Given the description of an element on the screen output the (x, y) to click on. 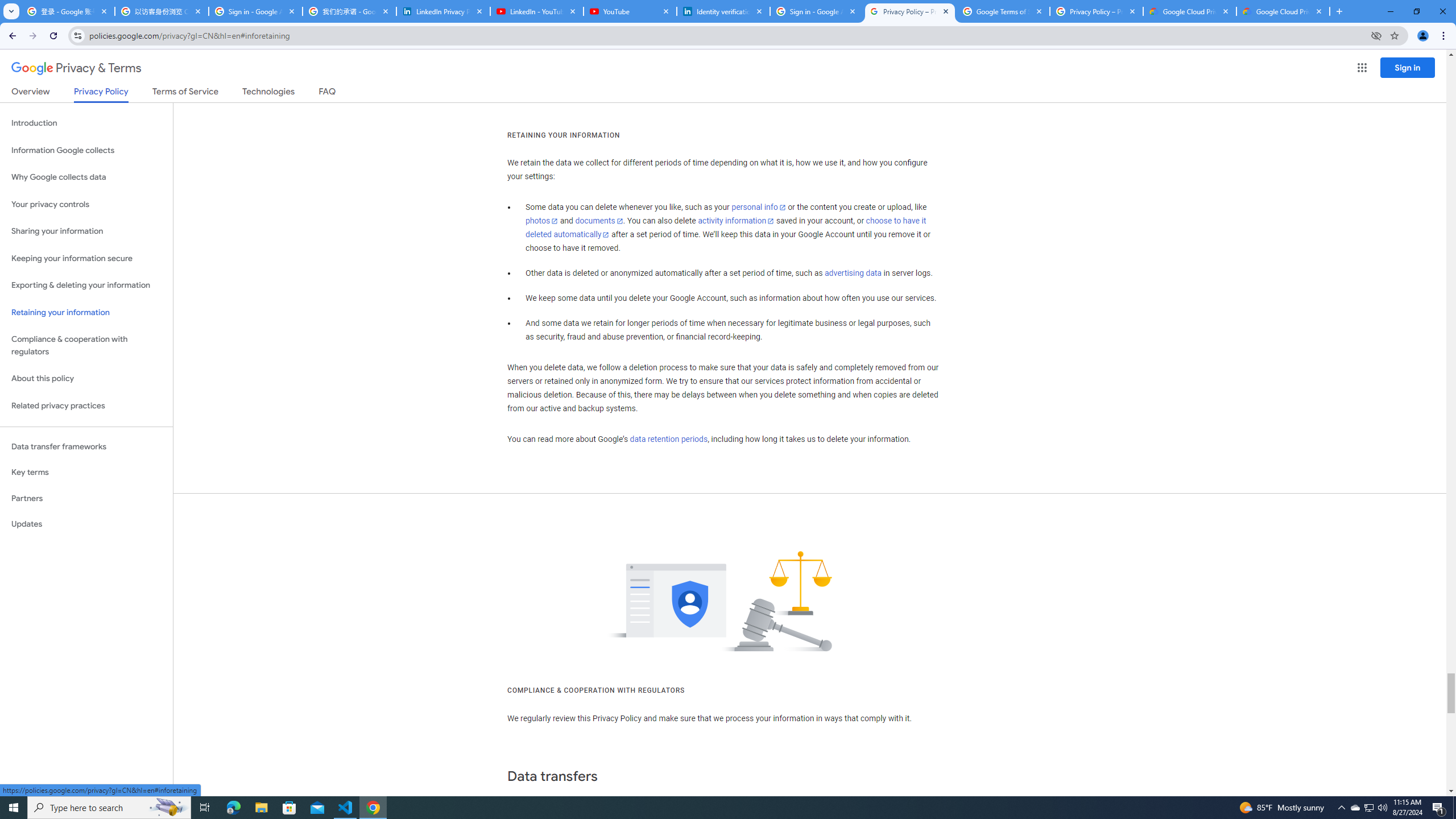
activity information (735, 221)
